Given the description of an element on the screen output the (x, y) to click on. 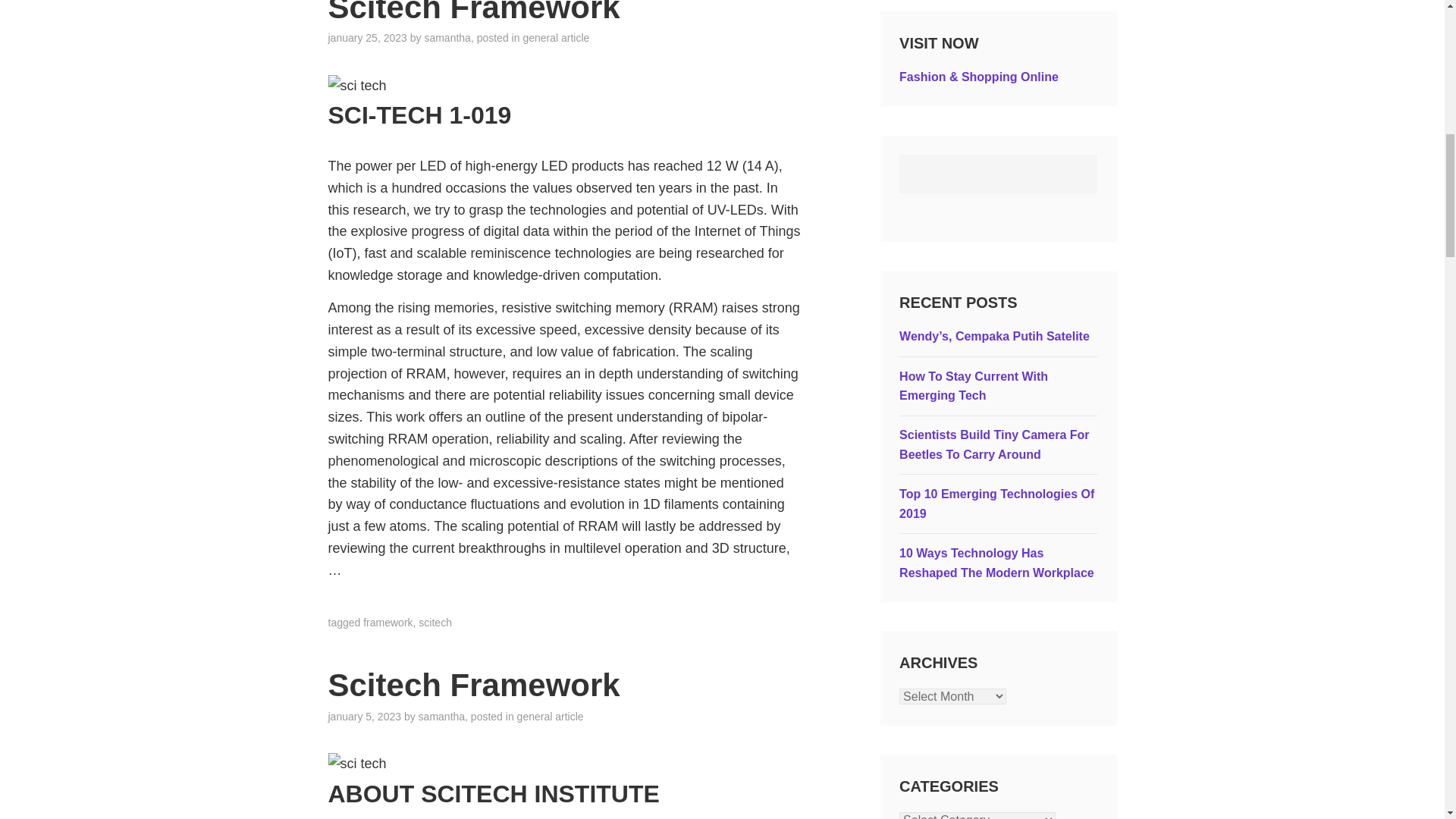
samantha (446, 37)
january 5, 2023 (364, 716)
samantha (441, 716)
framework (387, 622)
general article (555, 37)
january 25, 2023 (366, 37)
scitech (435, 622)
Scitech Framework (473, 12)
Scitech Framework (473, 684)
